Given the description of an element on the screen output the (x, y) to click on. 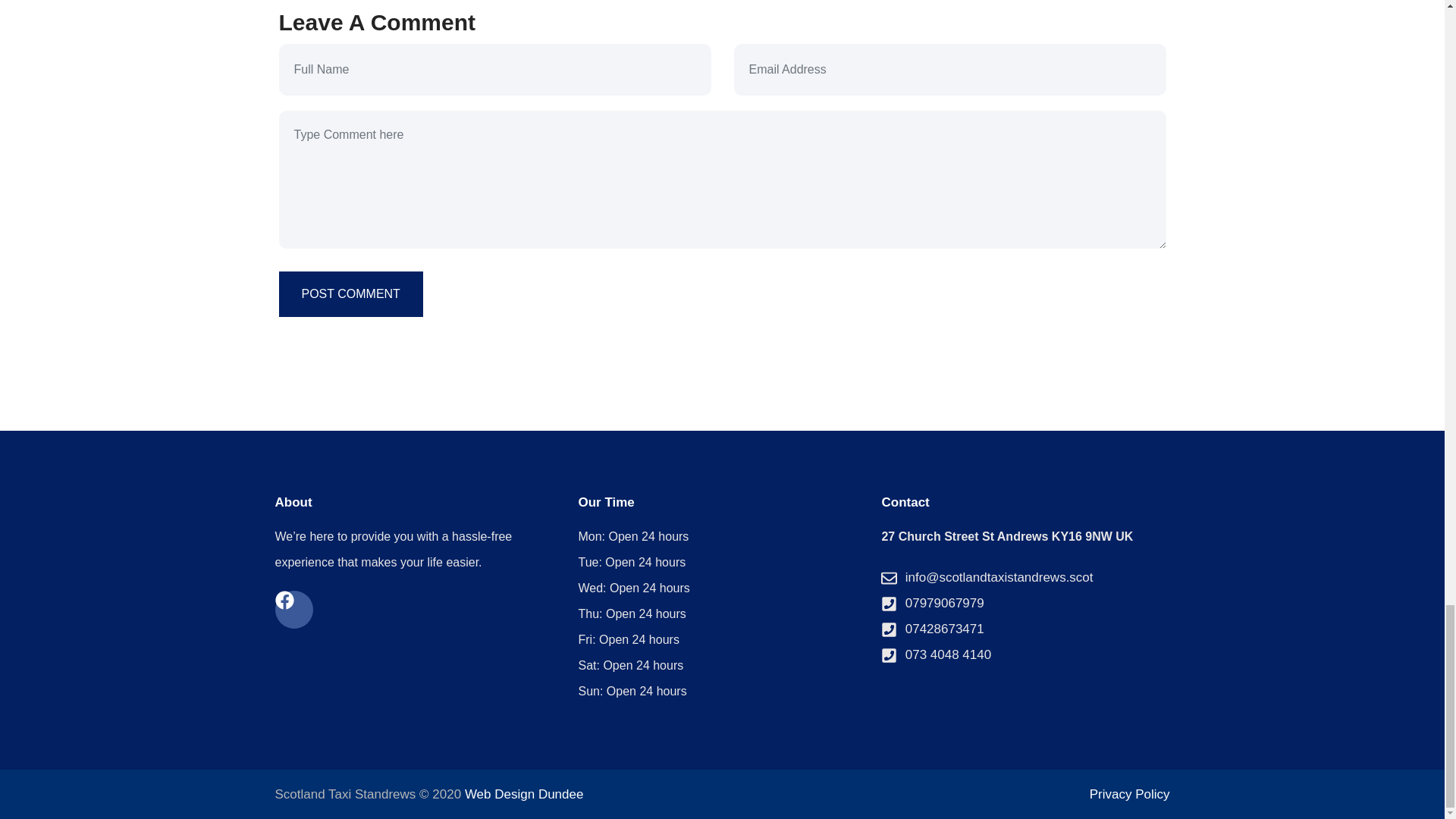
POST COMMENT (351, 293)
Web Design Dundee (523, 794)
07428673471 (1024, 629)
073 4048 4140 (1024, 655)
Privacy Policy (1129, 794)
07979067979 (1024, 603)
